Given the description of an element on the screen output the (x, y) to click on. 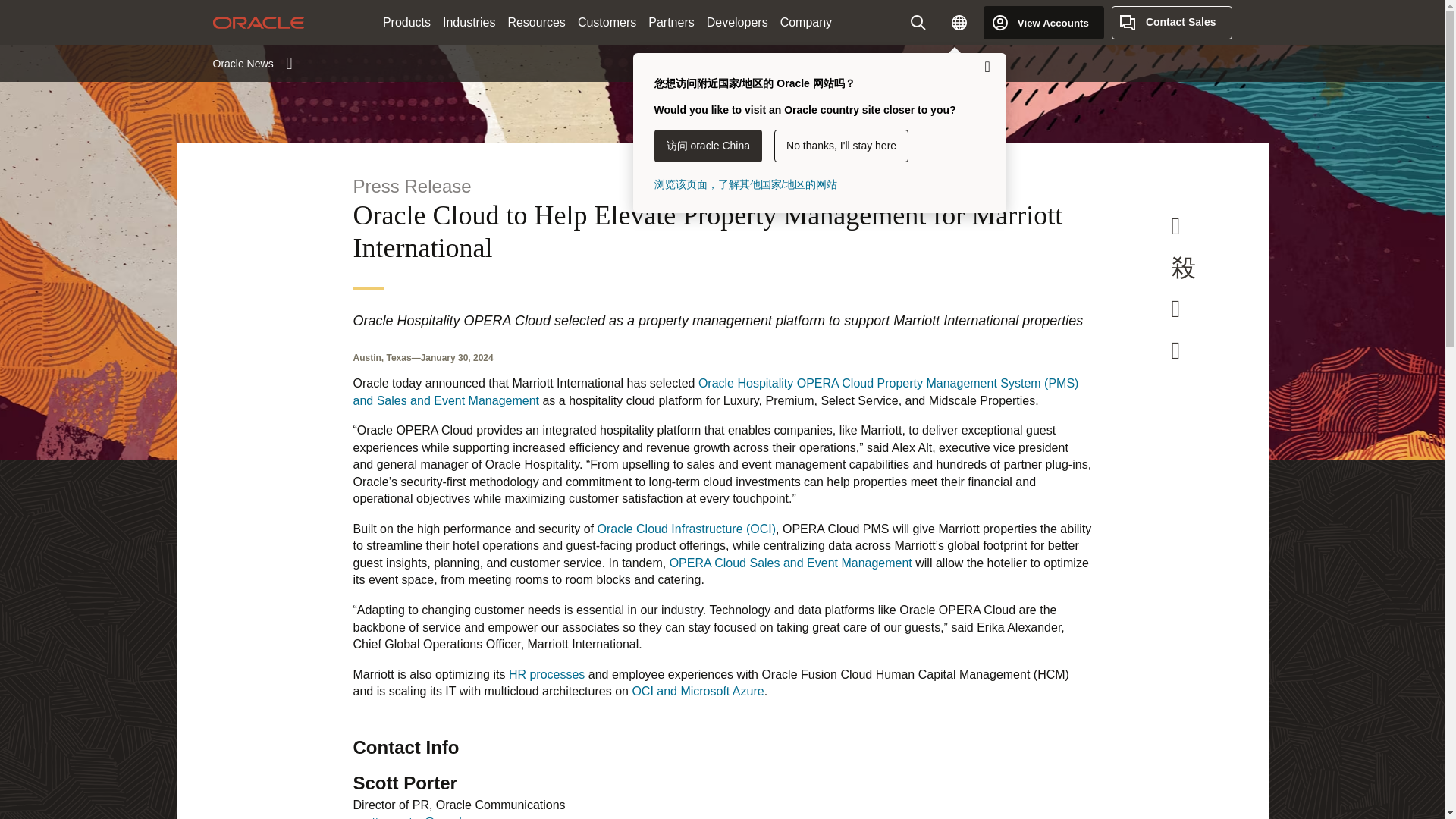
Developers (737, 22)
Contact Sales (1171, 22)
Resources (535, 22)
Oracle News (252, 63)
Partners (671, 22)
View Accounts (1043, 22)
Contact Sales (1171, 22)
No thanks, I'll stay here (841, 145)
Customers (607, 22)
Industries (468, 22)
